Given the description of an element on the screen output the (x, y) to click on. 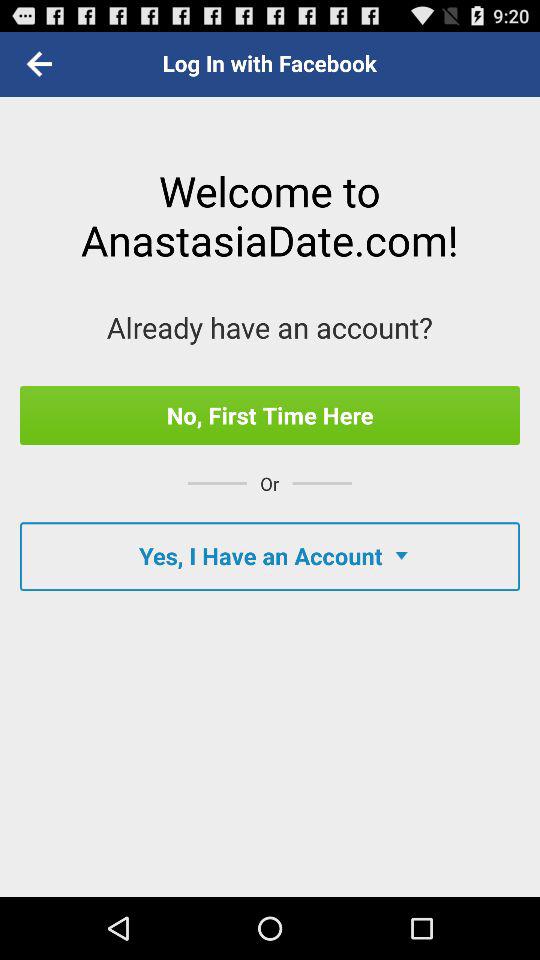
open the no first time button (269, 415)
